Given the description of an element on the screen output the (x, y) to click on. 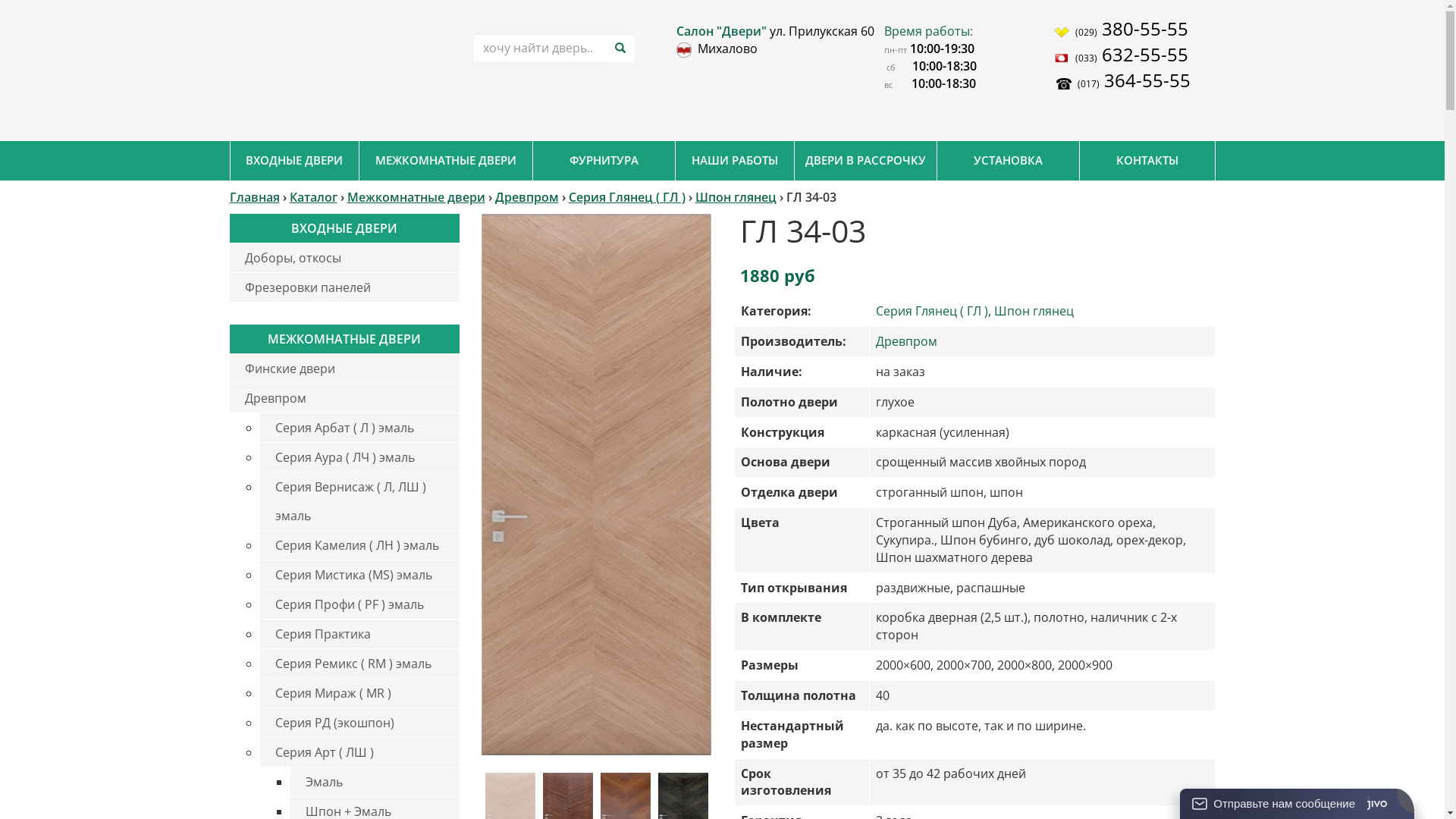
(017) 364-55-55 Element type: text (1133, 82)
(033) 632-55-55  Element type: text (1133, 56)
(029) 380-55-55  Element type: text (1133, 30)
